Given the description of an element on the screen output the (x, y) to click on. 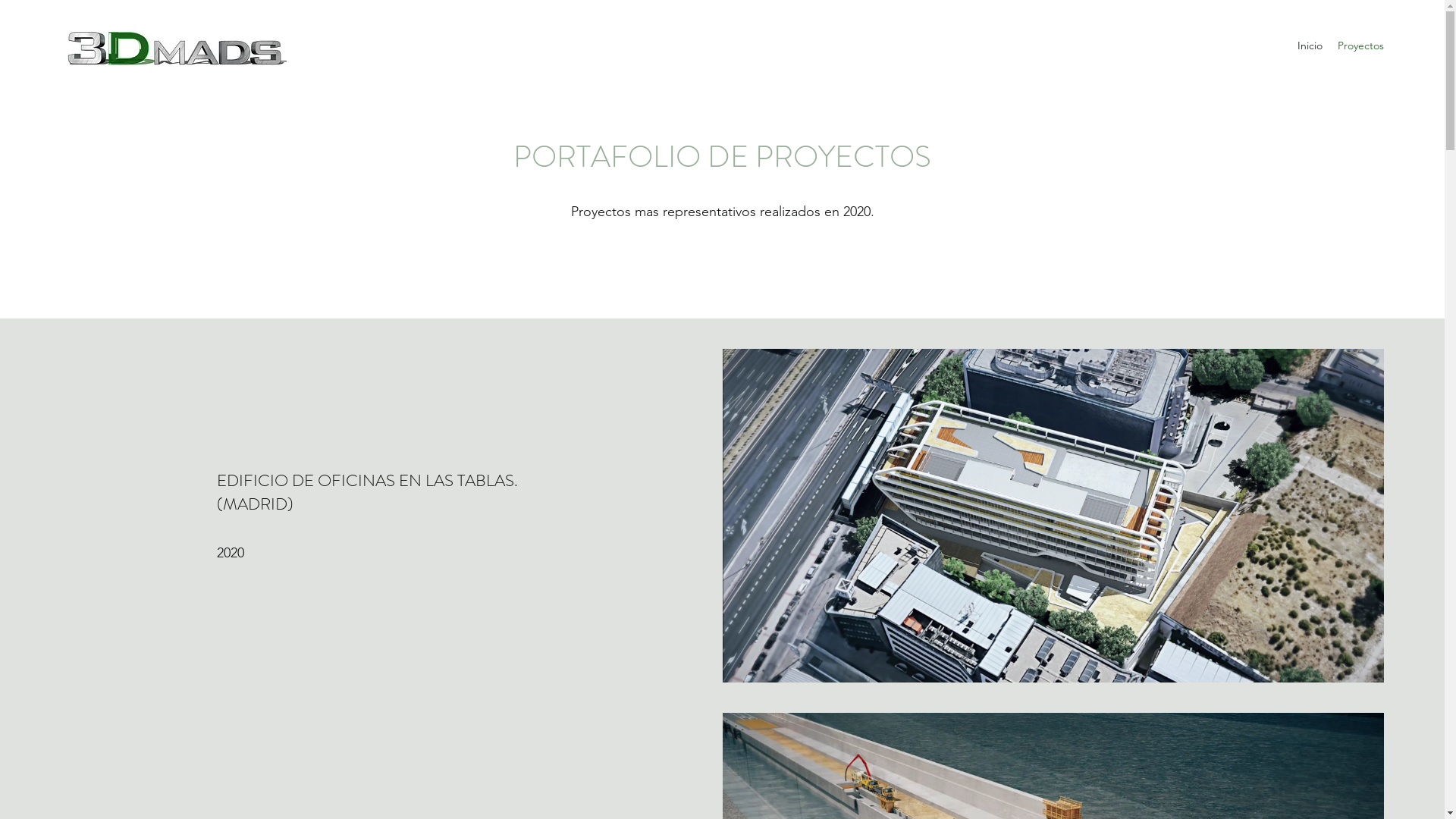
Proyectos Element type: text (1360, 45)
Inicio Element type: text (1309, 45)
